Given the description of an element on the screen output the (x, y) to click on. 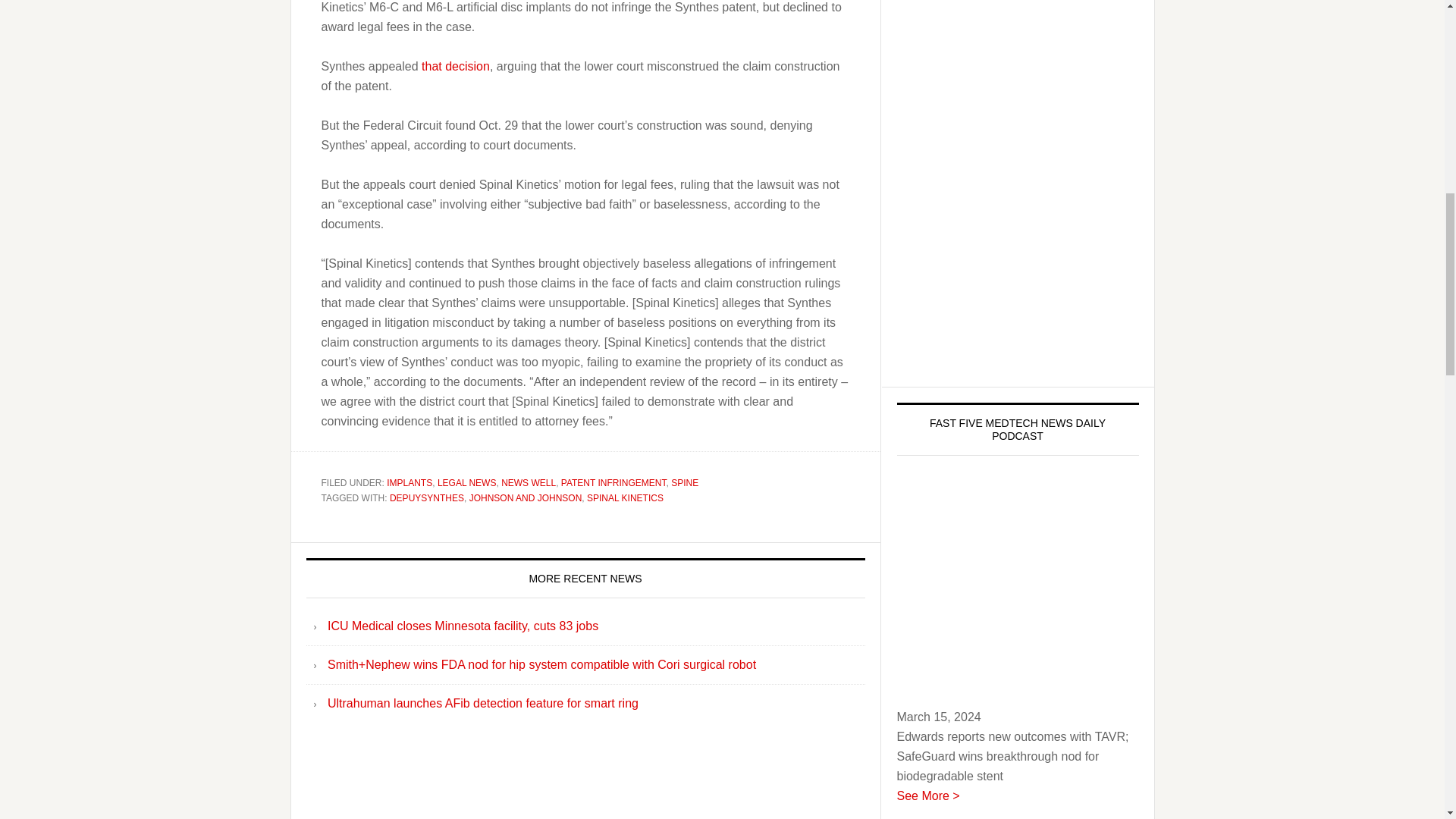
MassDevice.com news (455, 65)
3rd party ad content (1017, 185)
